Given the description of an element on the screen output the (x, y) to click on. 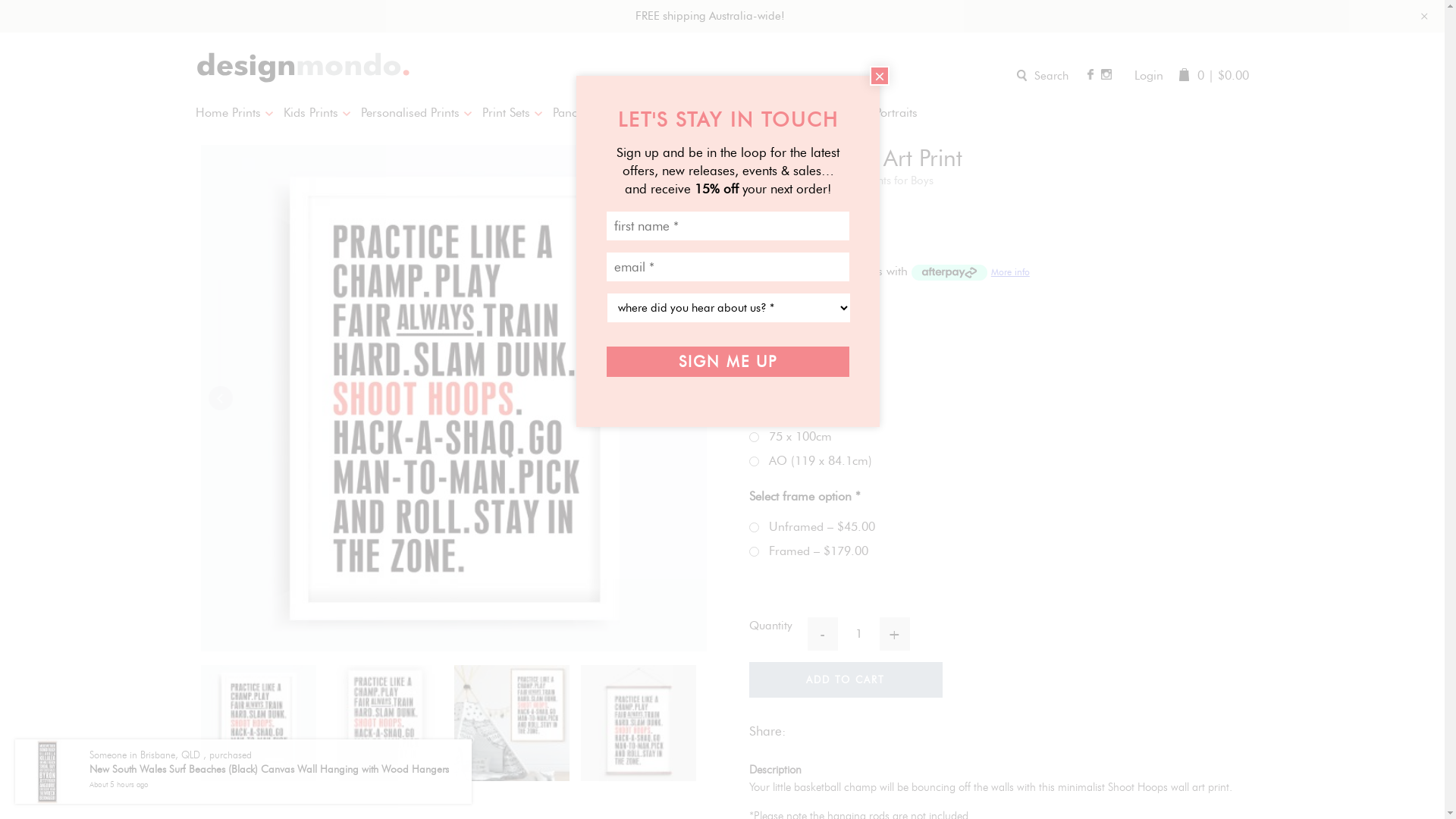
ADD TO CART Element type: text (845, 679)
Panoramic Prints Element type: text (602, 112)
Kids Prints Element type: text (822, 180)
Shoot Hoops Art Print 1 Element type: hover (453, 397)
sm--facebook Element type: text (1090, 74)
Next Element type: text (686, 397)
Print Sets Element type: text (517, 112)
0 | $0.00 Element type: text (1213, 75)
New Prints Element type: text (822, 112)
Home Prints Element type: text (239, 112)
Home Element type: text (764, 180)
Login Element type: text (1148, 75)
Kids Prints Element type: text (321, 112)
Sign Me Up Element type: text (727, 361)
Pet Portraits Element type: text (892, 112)
Qty Element type: hover (858, 633)
Prints for Boys Element type: text (898, 180)
Canvas Wall Hangings Element type: text (720, 112)
More info Element type: text (970, 270)
Personalised Prints Element type: text (421, 112)
sm--instagram Element type: text (1106, 74)
Previous Element type: text (220, 397)
